Given the description of an element on the screen output the (x, y) to click on. 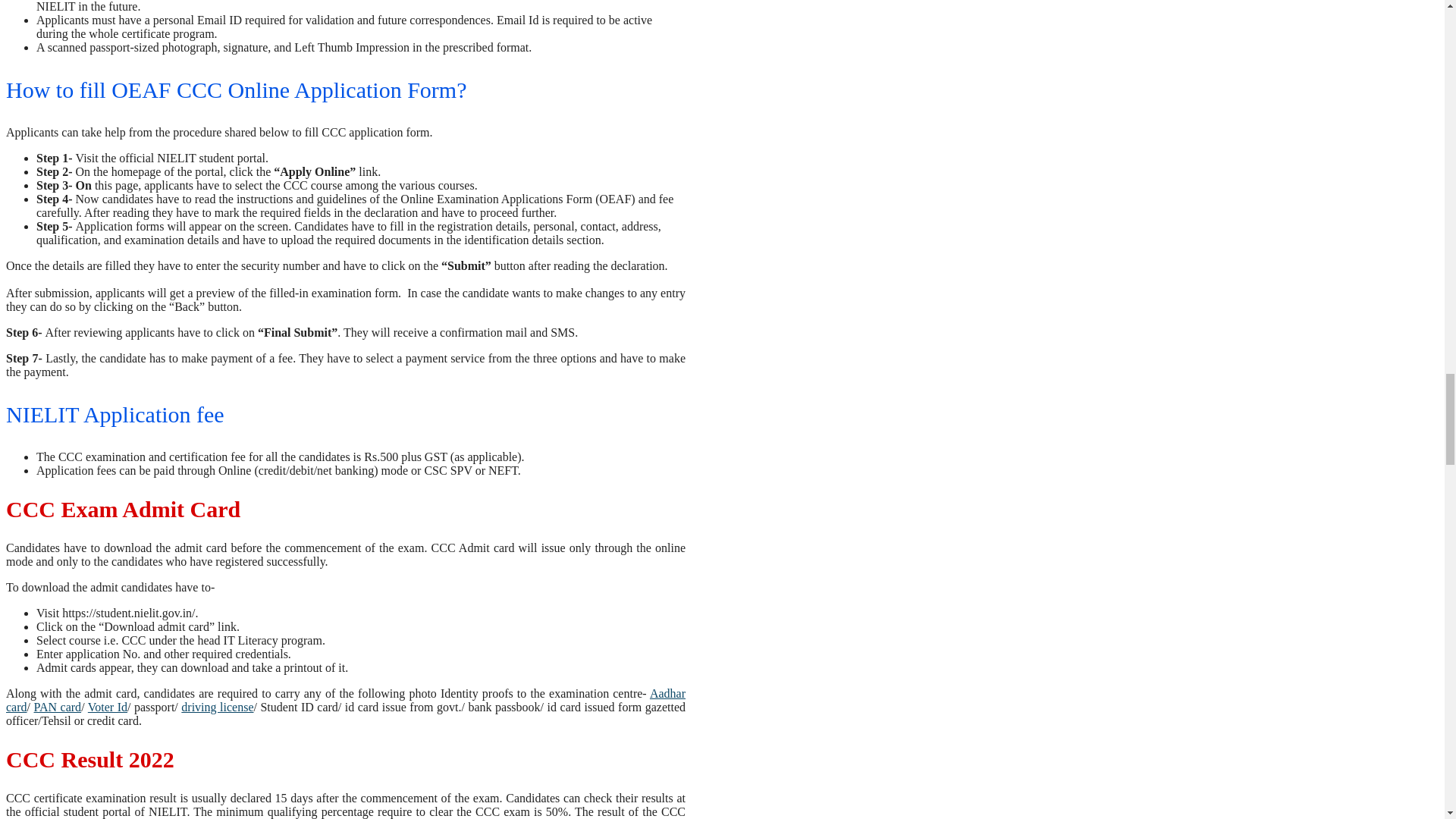
driving license (216, 707)
PAN card (57, 707)
Voter Id (107, 707)
Aadhar card (345, 700)
